Given the description of an element on the screen output the (x, y) to click on. 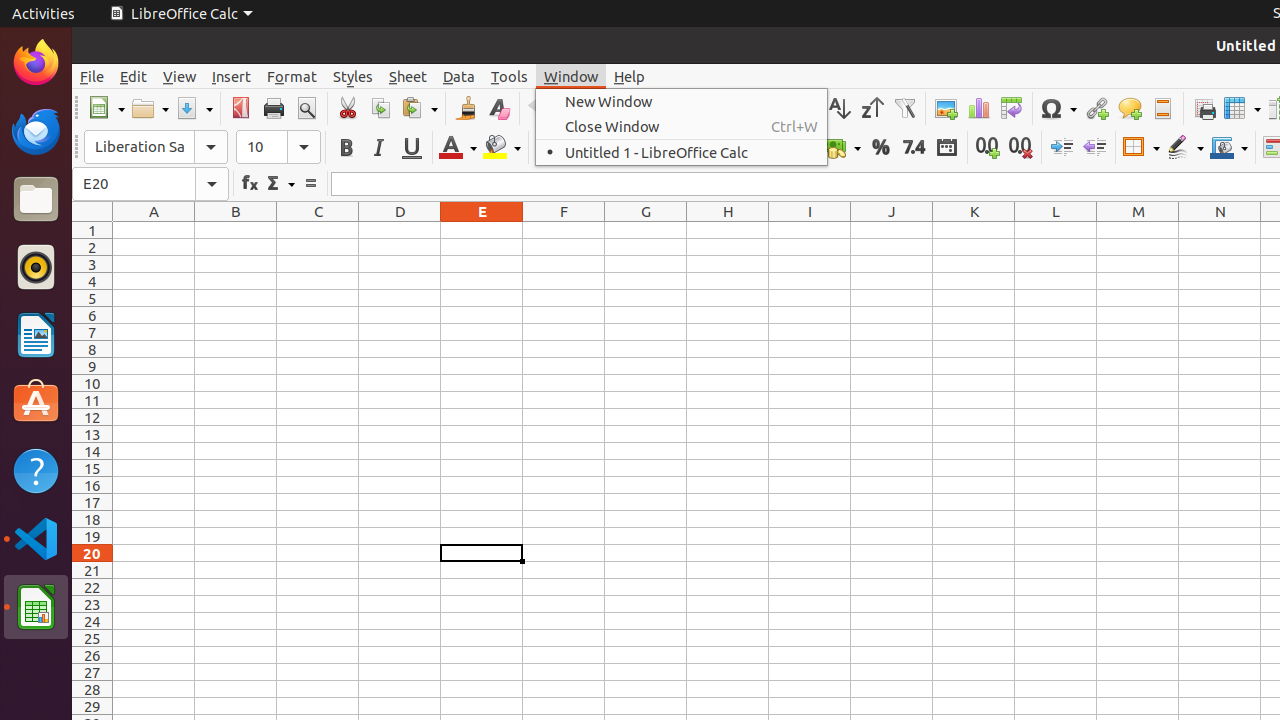
Print Area Element type: push-button (1203, 108)
Font Color Element type: push-button (458, 147)
Add Decimal Place Element type: push-button (987, 147)
Rhythmbox Element type: push-button (36, 267)
Tools Element type: menu (509, 76)
